Given the description of an element on the screen output the (x, y) to click on. 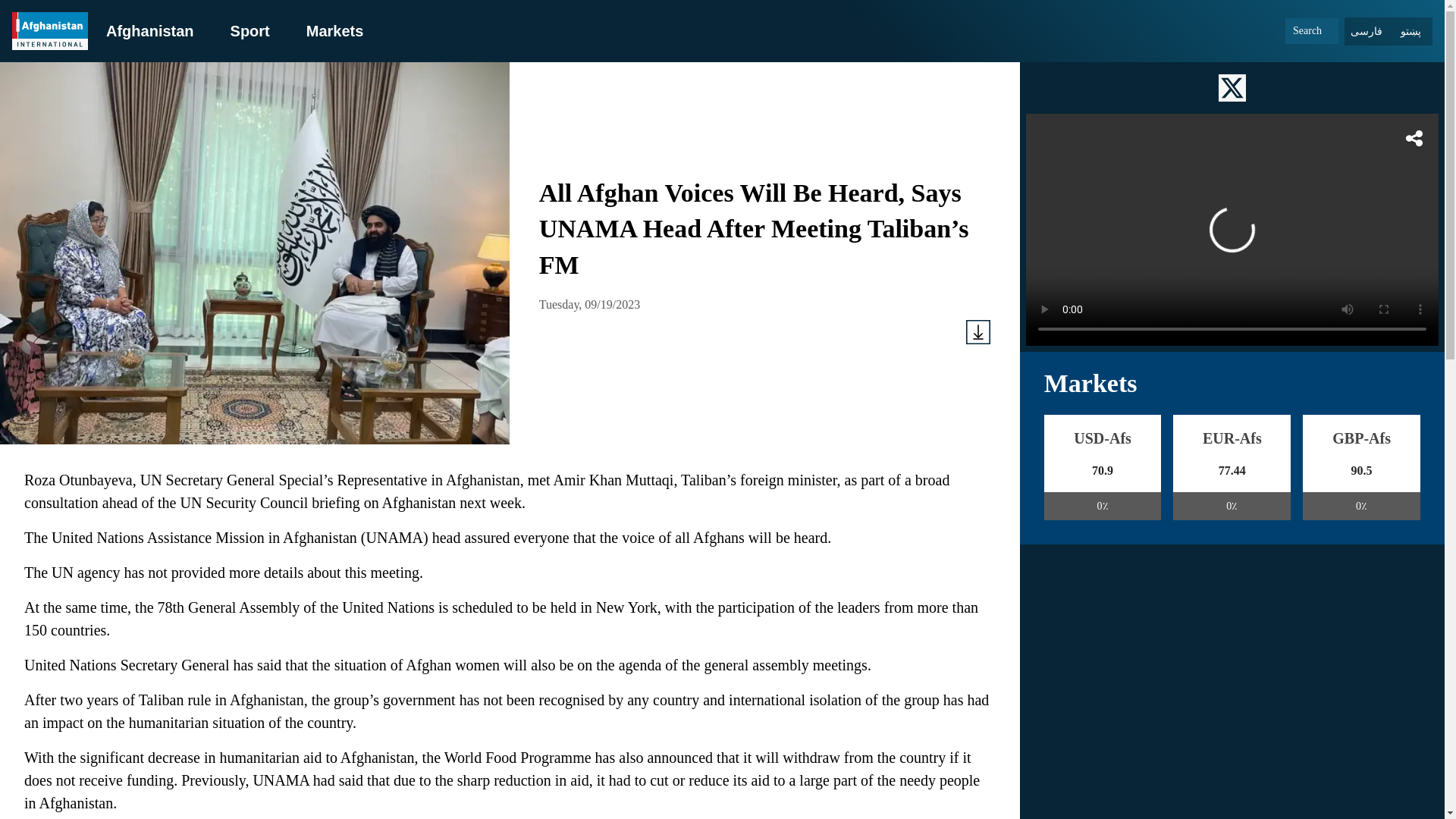
Sport (249, 30)
Markets (334, 30)
Live TV (1232, 229)
Afghanistan (149, 30)
